Given the description of an element on the screen output the (x, y) to click on. 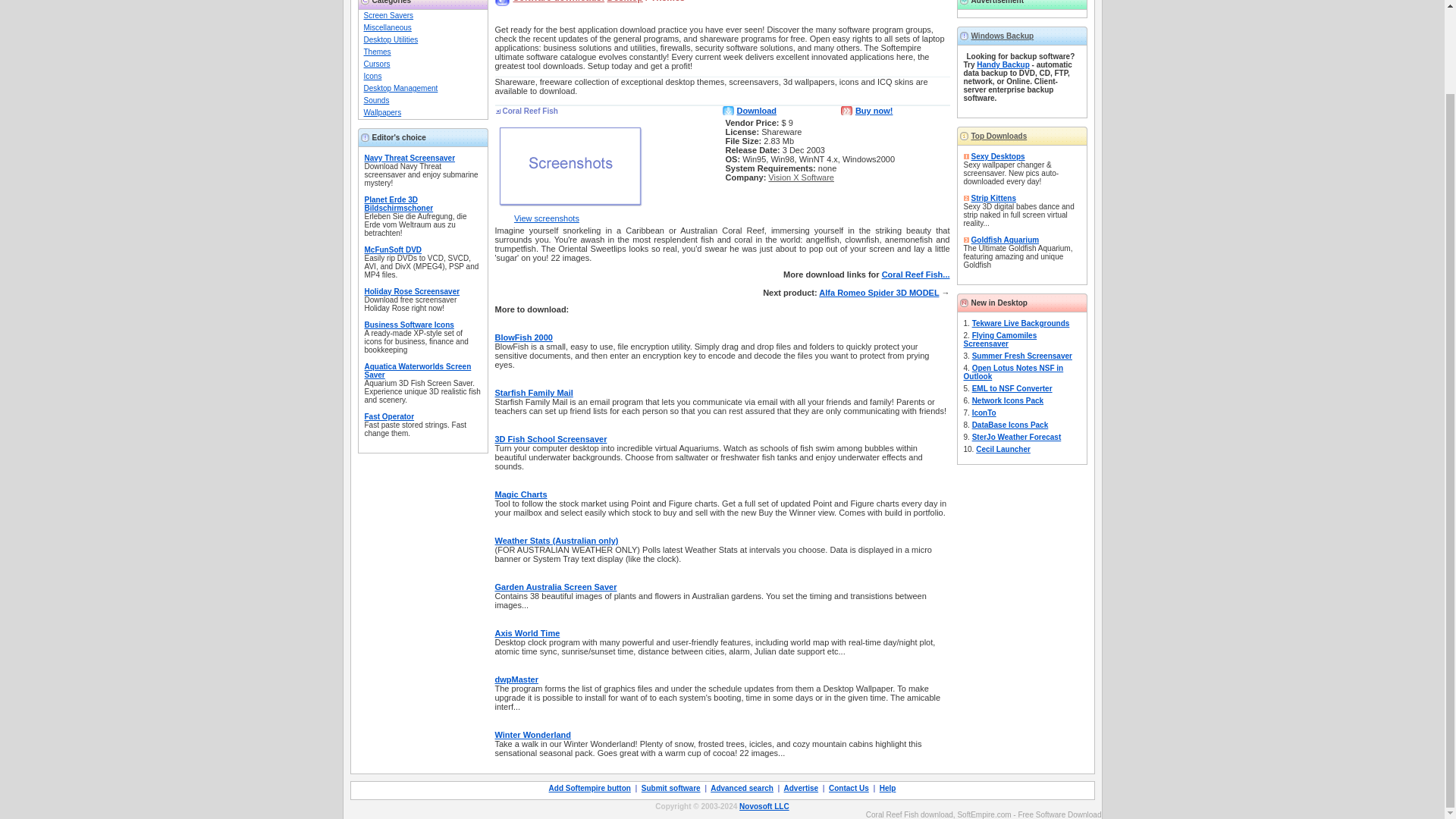
Wallpapers (382, 112)
Software downloads: (558, 1)
Cursors (377, 63)
Themes (377, 51)
Alfa Romeo Spider 3D MODEL (878, 292)
Download (756, 110)
Starfish Family Mail (533, 392)
Desktop Utilities (391, 40)
Software downloads. Softempire.com (558, 1)
Aquatica Waterworlds Screen Saver (417, 370)
